Given the description of an element on the screen output the (x, y) to click on. 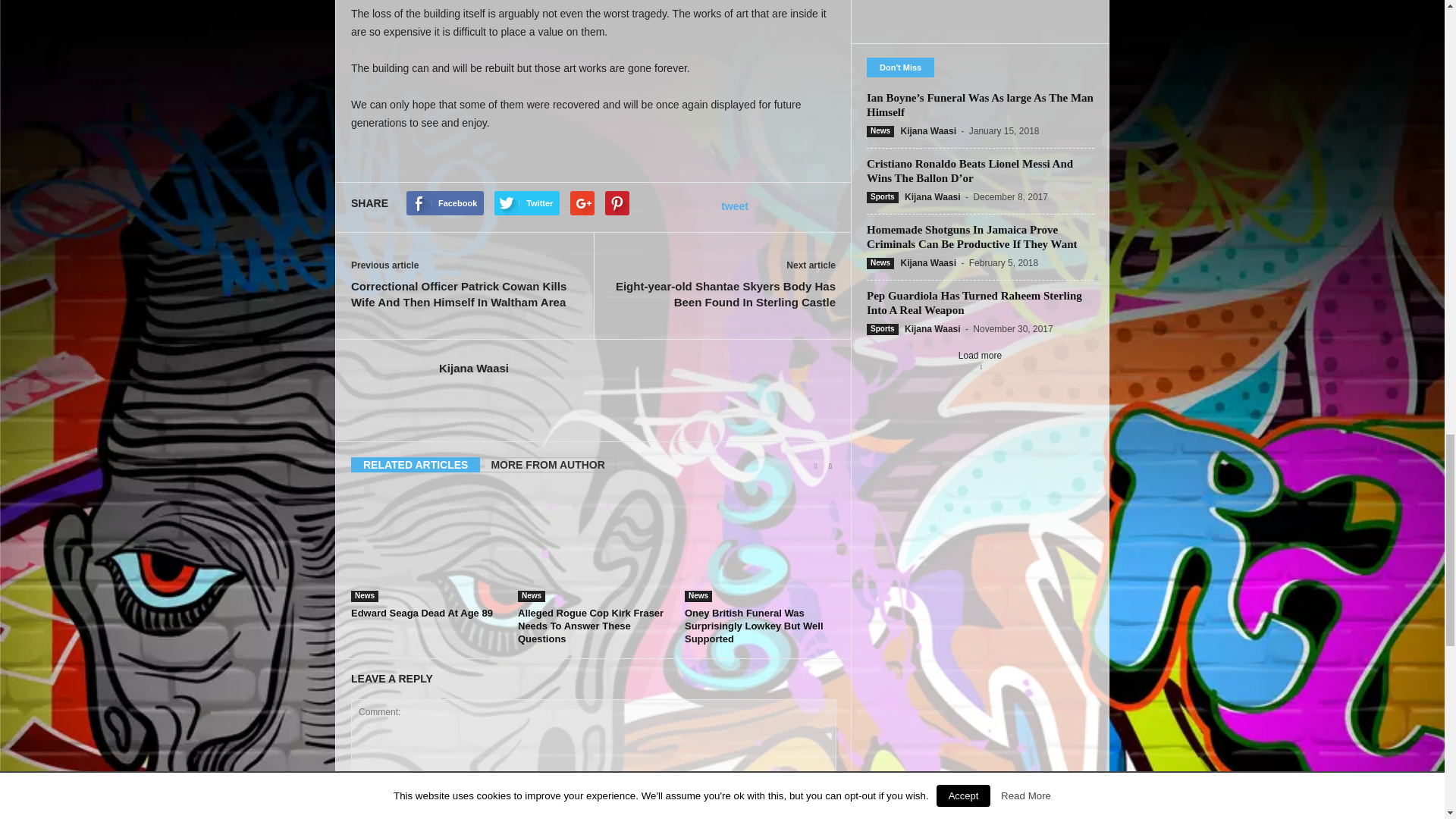
Edward Seaga Dead At Age 89 (421, 612)
Edward Seaga Dead At Age 89 (426, 544)
